Given the description of an element on the screen output the (x, y) to click on. 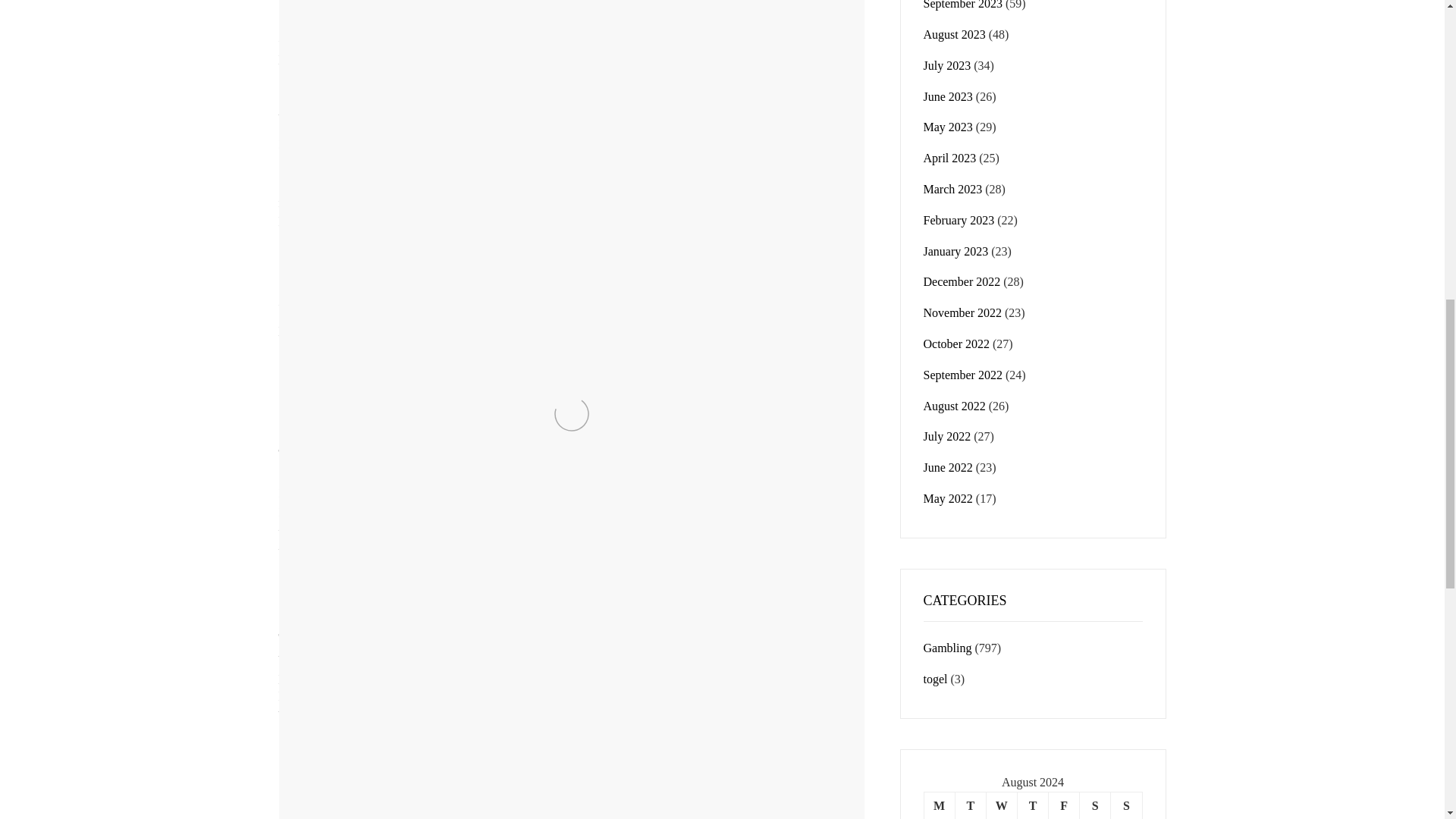
togel (580, 472)
September 2023 (963, 4)
April 2023 (949, 157)
Tuesday (970, 805)
Sunday (1125, 805)
August 2023 (954, 33)
May 2023 (947, 126)
July 2023 (947, 65)
Wednesday (1000, 805)
June 2023 (947, 96)
